Given the description of an element on the screen output the (x, y) to click on. 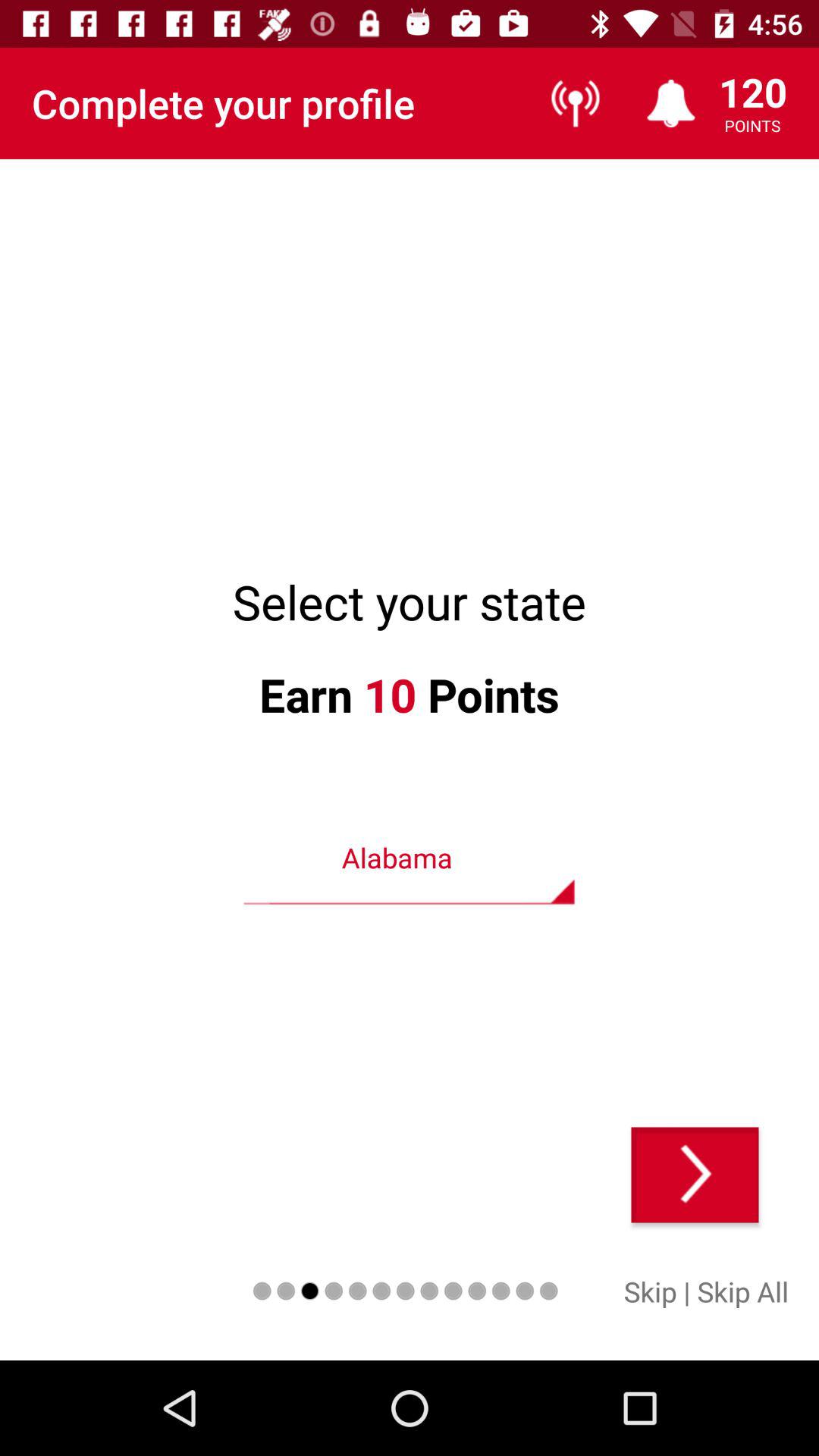
open the item to the right of  | (742, 1291)
